Given the description of an element on the screen output the (x, y) to click on. 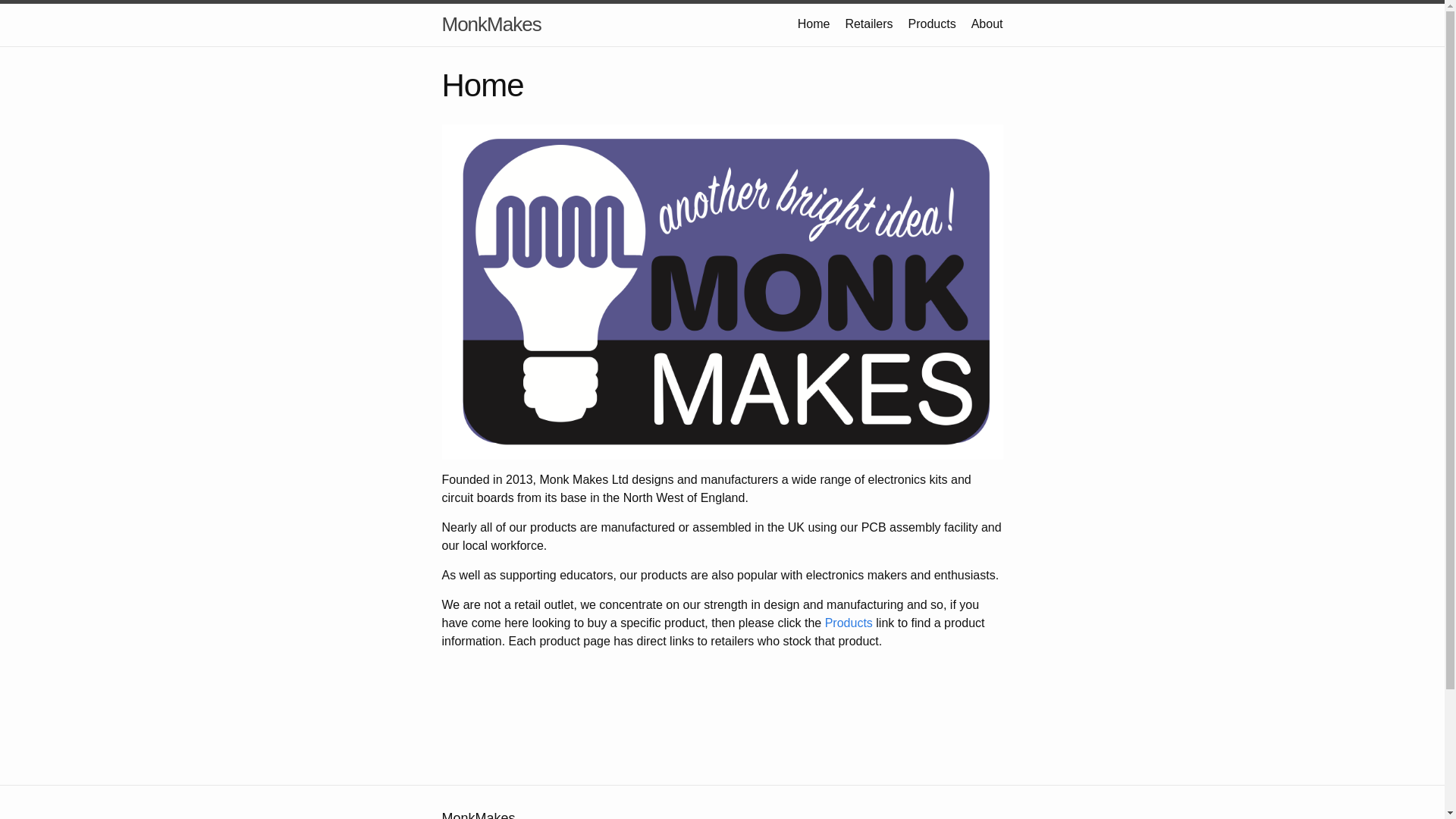
Home (813, 23)
Products (848, 622)
Retailers (868, 23)
MonkMakes (490, 24)
About (987, 23)
Products (932, 23)
